Given the description of an element on the screen output the (x, y) to click on. 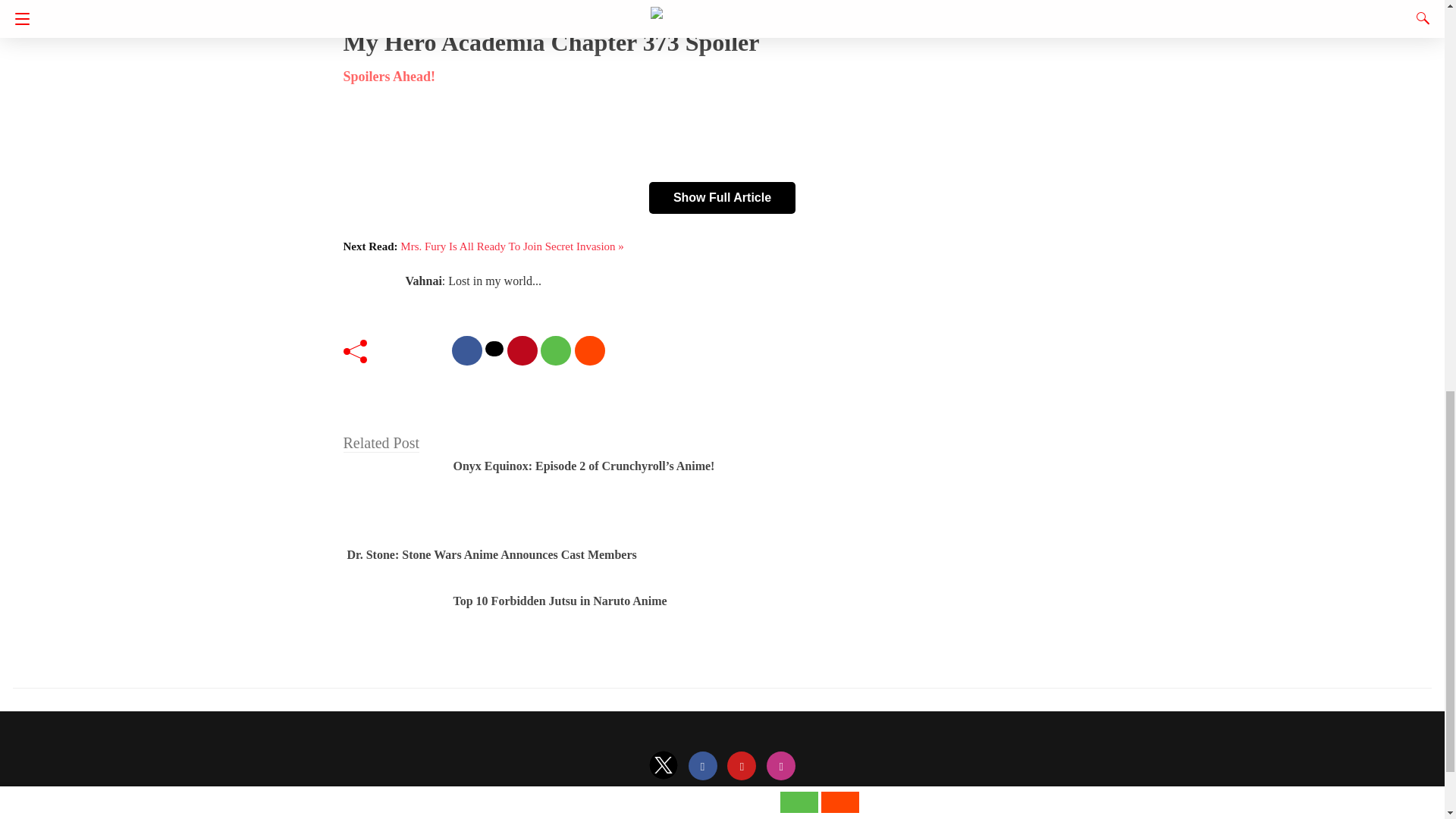
Dr. Stone: Stone Wars Anime Announces Cast Members (492, 554)
Dr. Stone: Stone Wars Anime Announces Cast Members (492, 554)
youtube profile (740, 766)
twitter share (493, 348)
pinterest share (521, 350)
instagram profile (780, 766)
Top 10 Forbidden Jutsu in Naruto Anime (559, 600)
reddit share (590, 350)
Show Full Article (721, 197)
facebook profile (702, 766)
facebook share (466, 350)
twitter profile (663, 766)
whatsapp share (555, 350)
Top 10 Forbidden Jutsu in Naruto Anime (559, 600)
